Given the description of an element on the screen output the (x, y) to click on. 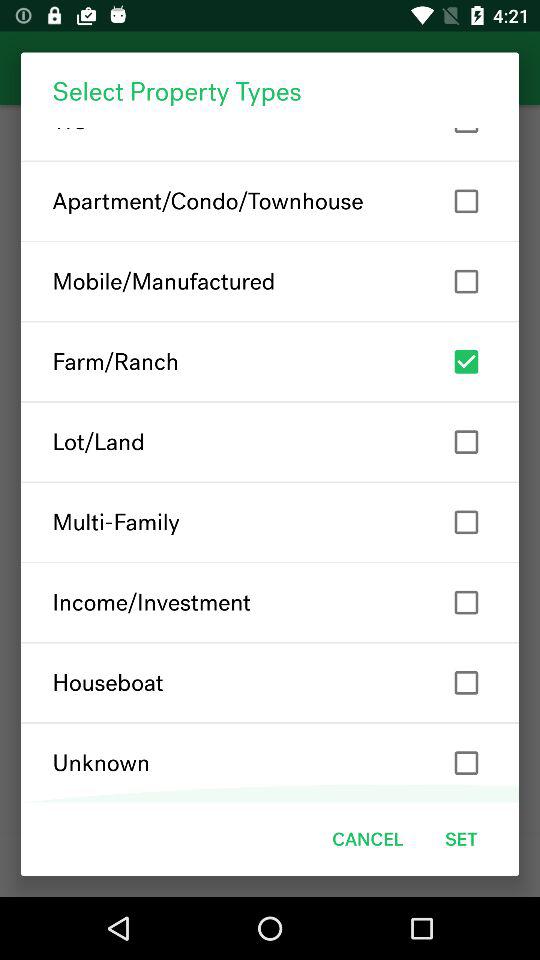
choose icon to the right of the cancel (461, 838)
